Given the description of an element on the screen output the (x, y) to click on. 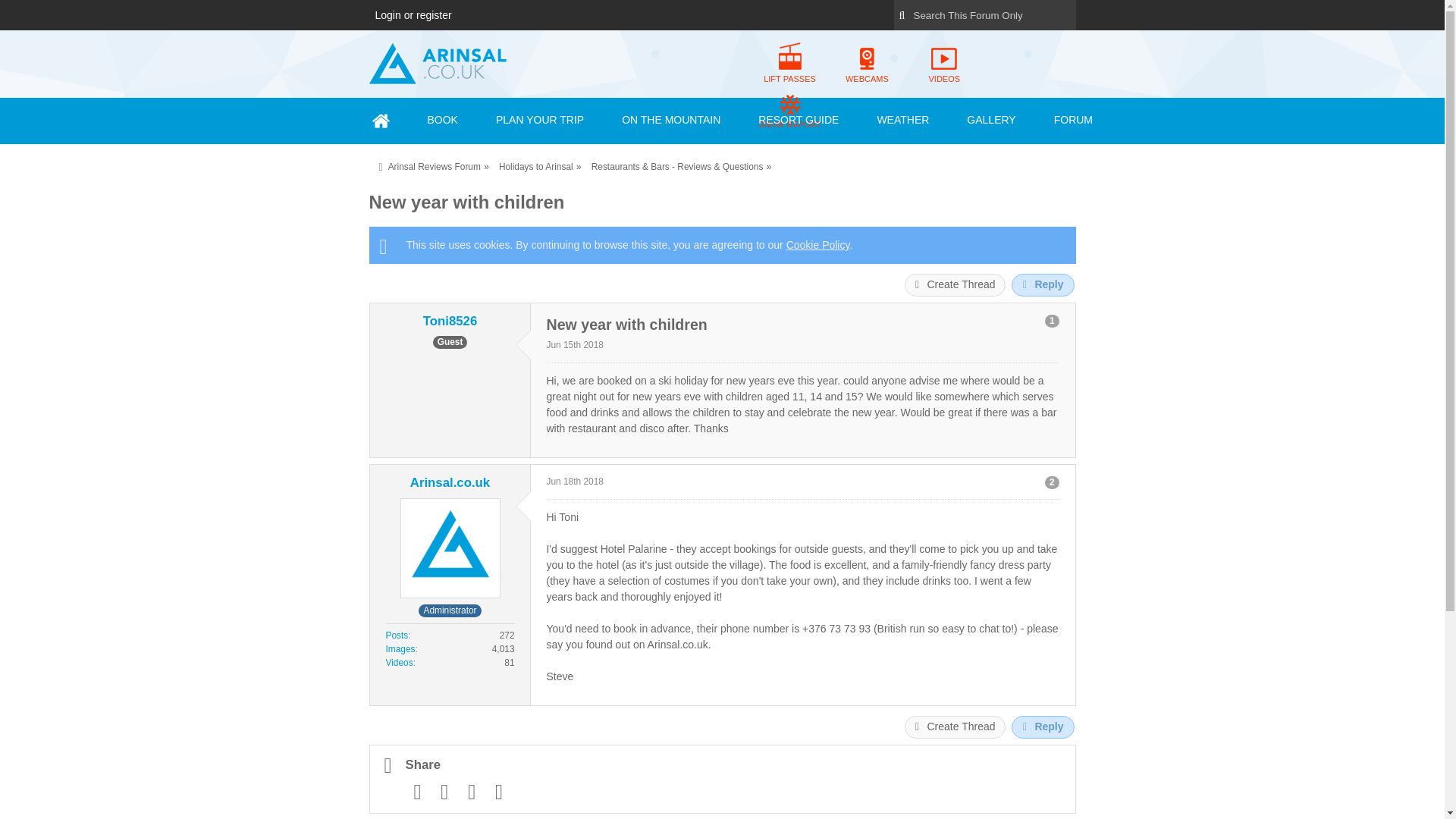
Login or register (412, 15)
VIDEOS (943, 64)
WEBCAMS (866, 64)
PLAN YOUR TRIP (539, 120)
LIFT PASSES (789, 64)
RESORT GUIDE (798, 120)
ON THE MOUNTAIN (670, 120)
SNOW REPORT (789, 110)
